Given the description of an element on the screen output the (x, y) to click on. 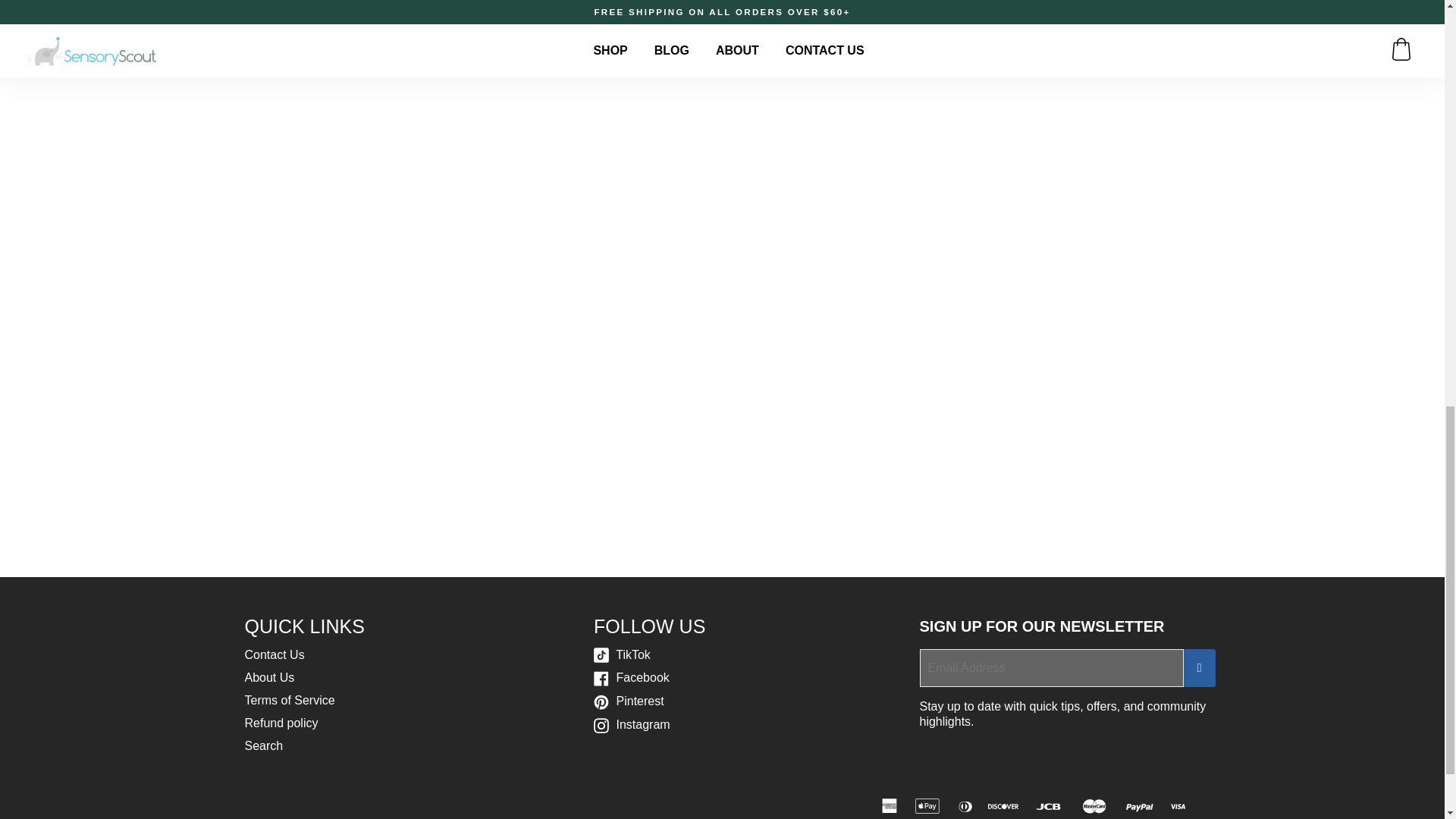
Contact Us (274, 654)
Sensory Scout on Instagram (631, 724)
Sensory Scout on Pinterest (628, 700)
Sensory Scout on TikTok (622, 654)
About Us (269, 676)
Sensory Scout on Facebook (631, 676)
Refund policy (280, 722)
Terms of Service (289, 699)
